Given the description of an element on the screen output the (x, y) to click on. 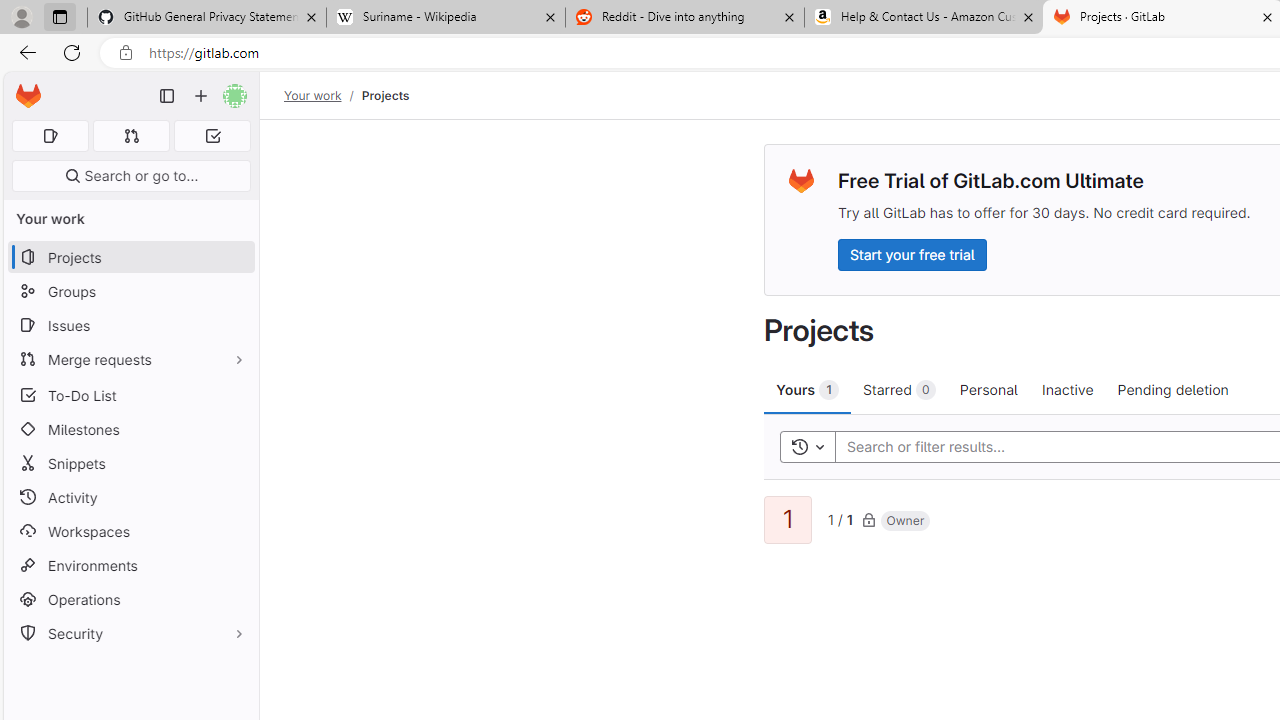
To-Do list 0 (212, 136)
Starred 0 (899, 389)
To-Do List (130, 394)
Inactive (1067, 389)
Homepage (27, 96)
Projects (384, 95)
Personal (988, 389)
Merge requests 0 (131, 136)
Projects (384, 95)
Issues (130, 325)
Class: s16 (868, 519)
Snippets (130, 463)
